Given the description of an element on the screen output the (x, y) to click on. 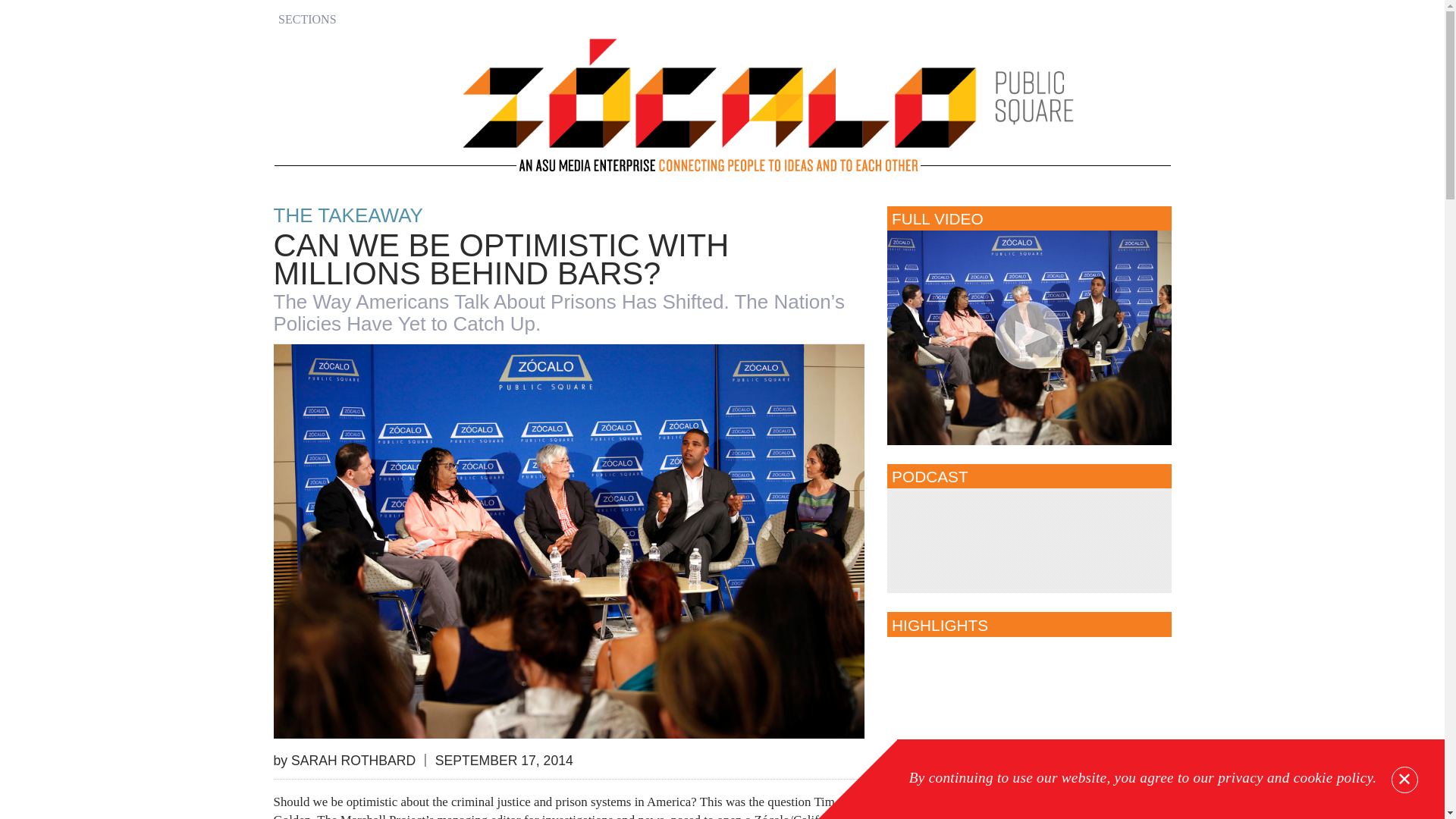
IDEAS (318, 85)
CHRONICLES (318, 119)
About (318, 252)
SECTIONS (318, 19)
VIEWINGS (318, 152)
EXPLORATIONS (318, 185)
